Given the description of an element on the screen output the (x, y) to click on. 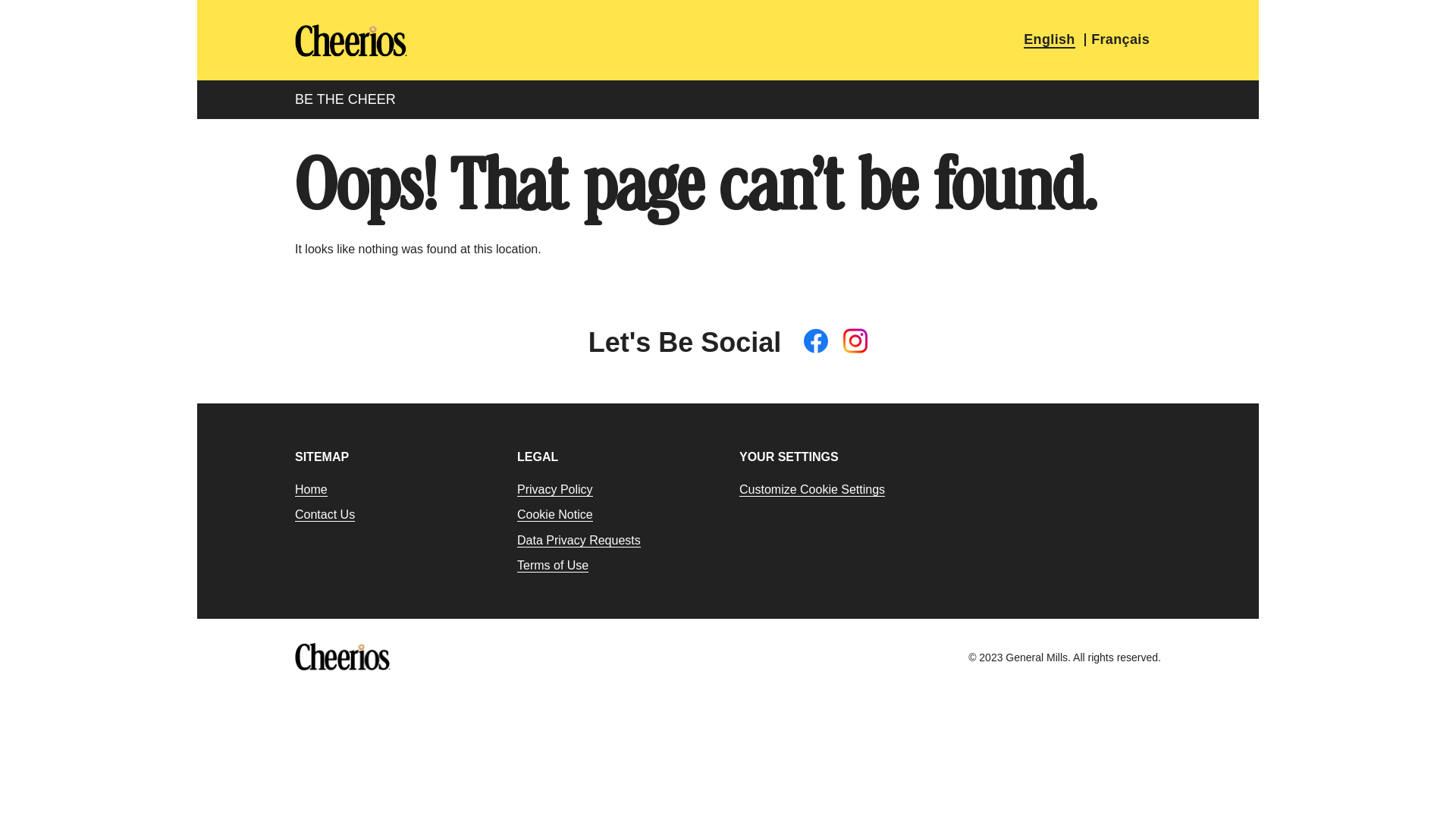
BE THE CHEER Element type: text (345, 99)
Like us on Facebook Element type: text (815, 341)
Contact Us Element type: text (324, 514)
Follow us on Instagram Element type: text (855, 341)
Home Element type: text (310, 489)
Data Privacy Requests Element type: text (578, 540)
Customize Cookie Settings Element type: text (811, 489)
English Element type: text (1048, 40)
Terms of Use Element type: text (552, 565)
Privacy Policy Element type: text (555, 489)
Cheerios Logo Element type: text (350, 39)
Cookie Notice Element type: text (555, 514)
